Given the description of an element on the screen output the (x, y) to click on. 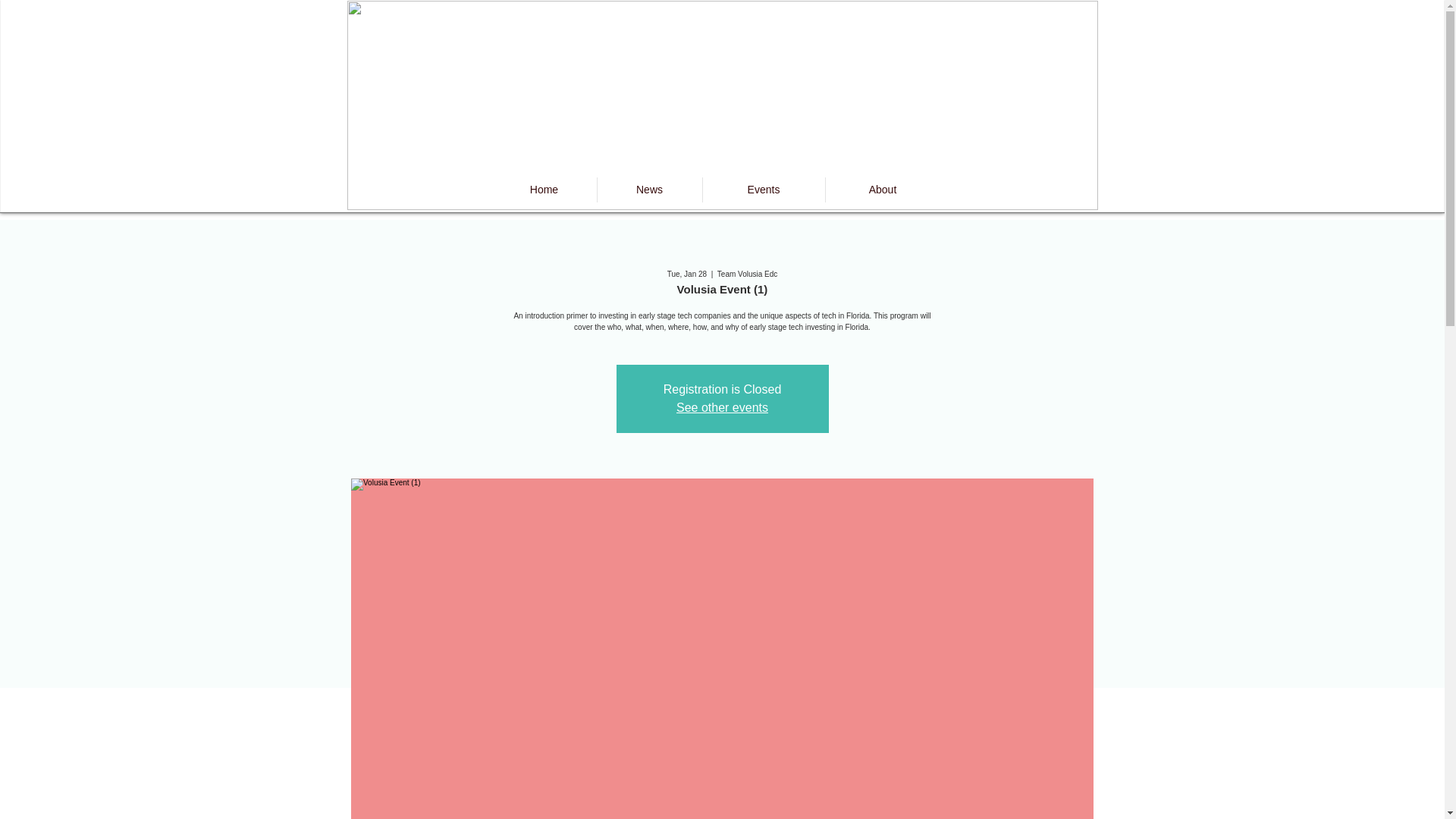
Home (543, 189)
About (882, 189)
Events (763, 189)
News (648, 189)
See other events (722, 407)
